Given the description of an element on the screen output the (x, y) to click on. 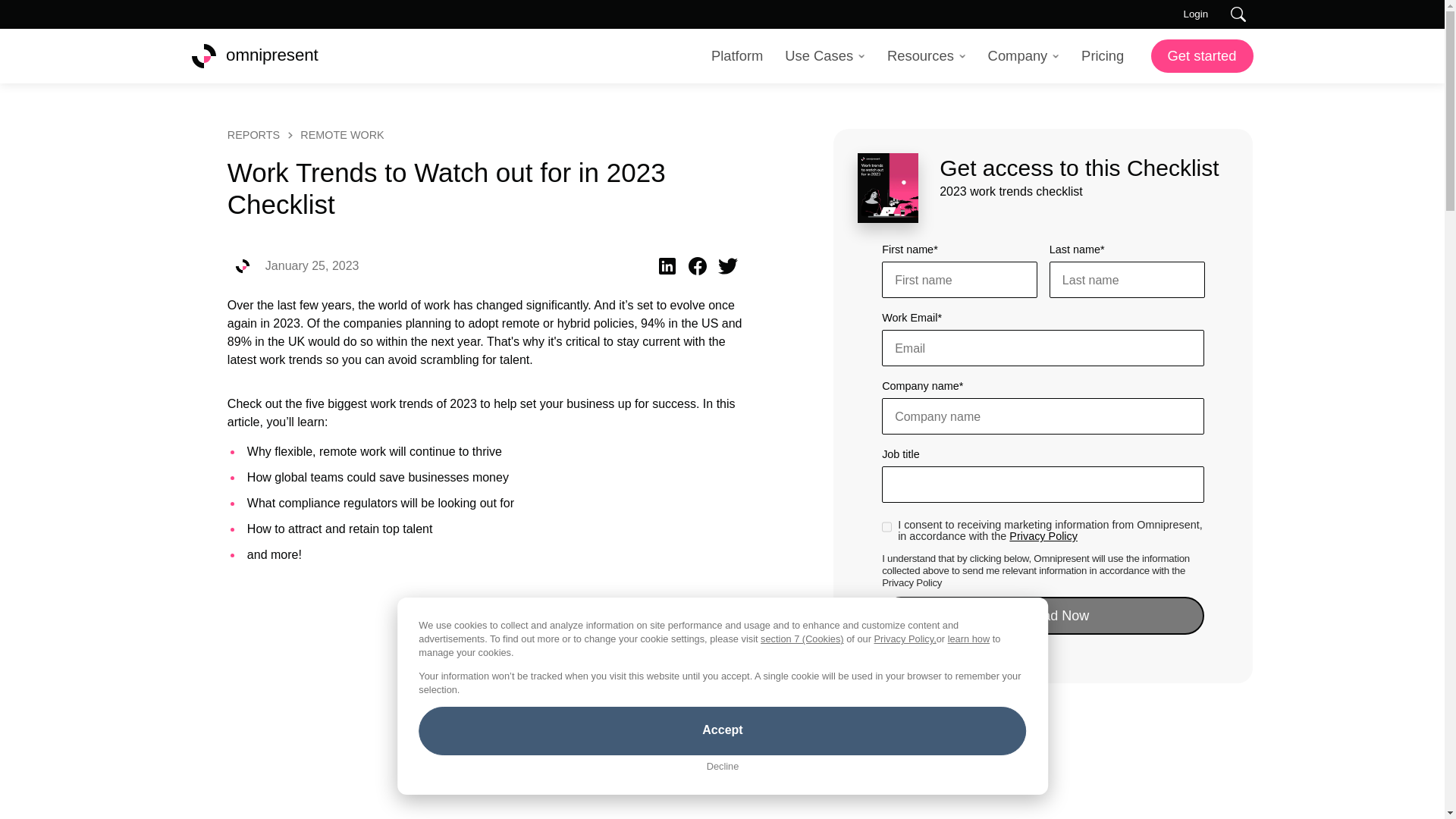
Pricing (1102, 55)
Platform (737, 55)
Login (1195, 14)
Download Now (1043, 615)
omnipresent (253, 55)
